Given the description of an element on the screen output the (x, y) to click on. 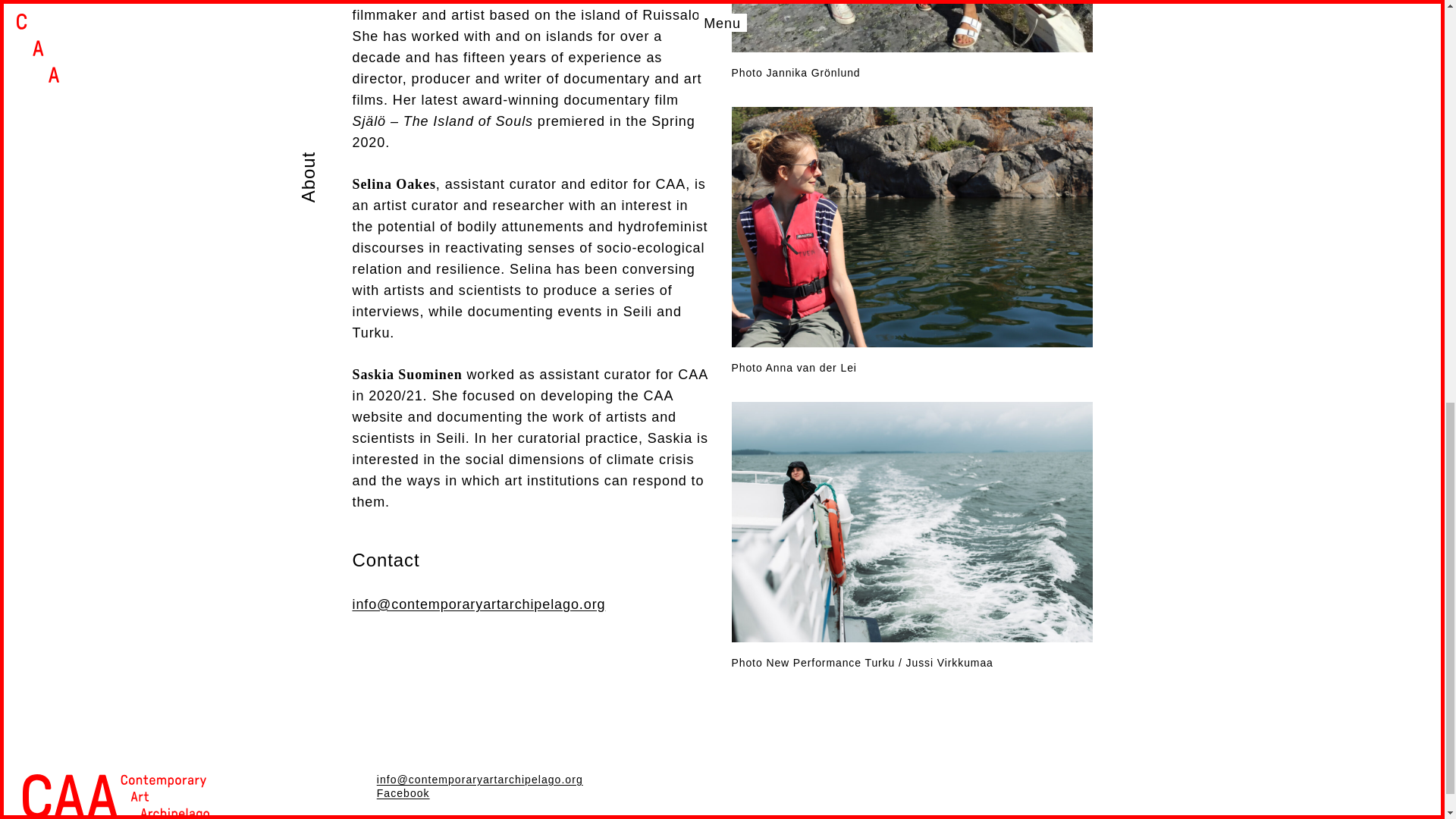
Facebook (403, 793)
Photo Anna van der Lei (911, 240)
Photo Anna van der Lei (911, 240)
